Given the description of an element on the screen output the (x, y) to click on. 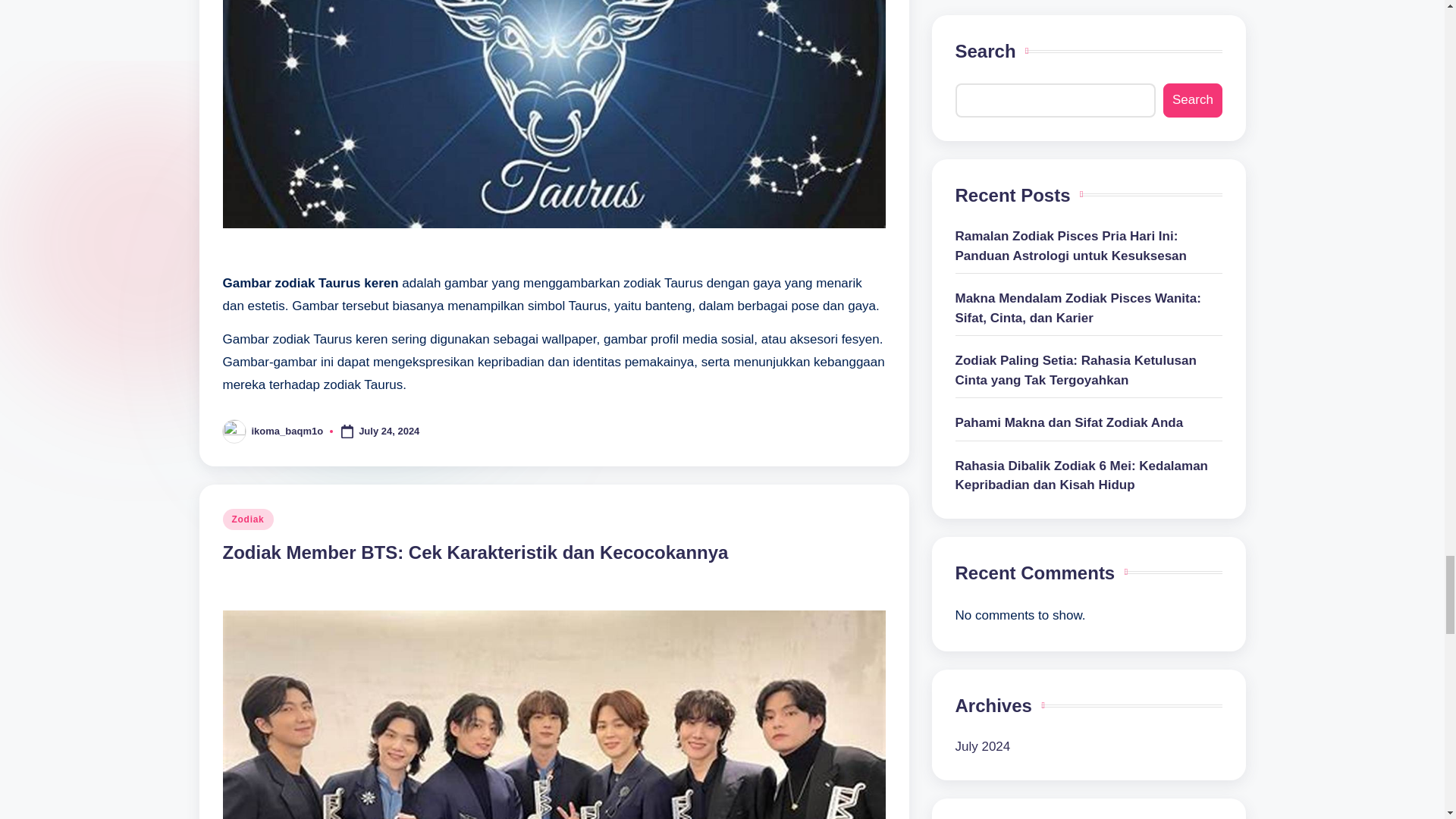
Zodiak Member BTS: Cek Karakteristik dan Kecocokannya (475, 552)
